Given the description of an element on the screen output the (x, y) to click on. 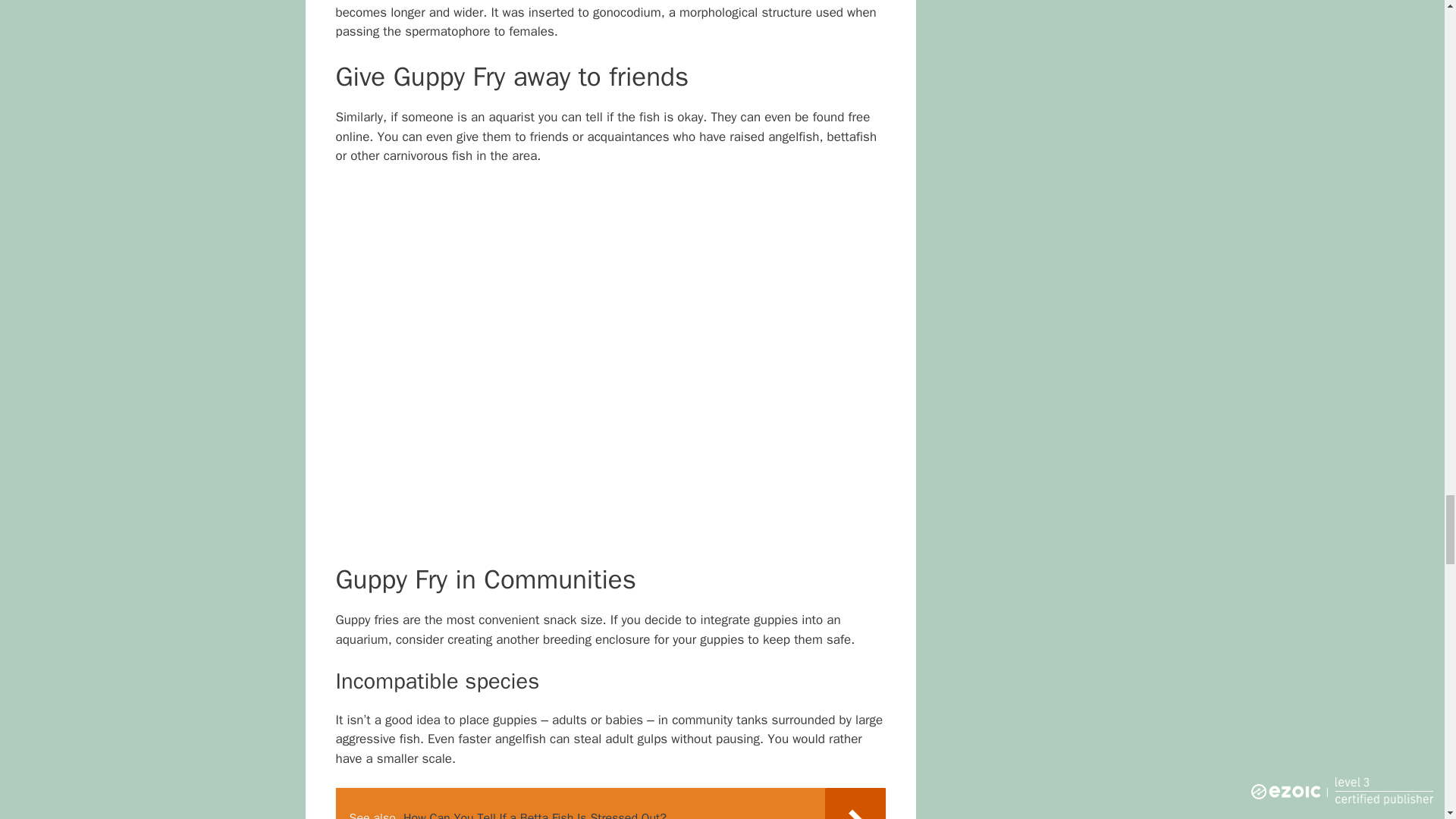
See also  How Can You Tell If a Betta Fish Is Stressed Out? (609, 803)
